Given the description of an element on the screen output the (x, y) to click on. 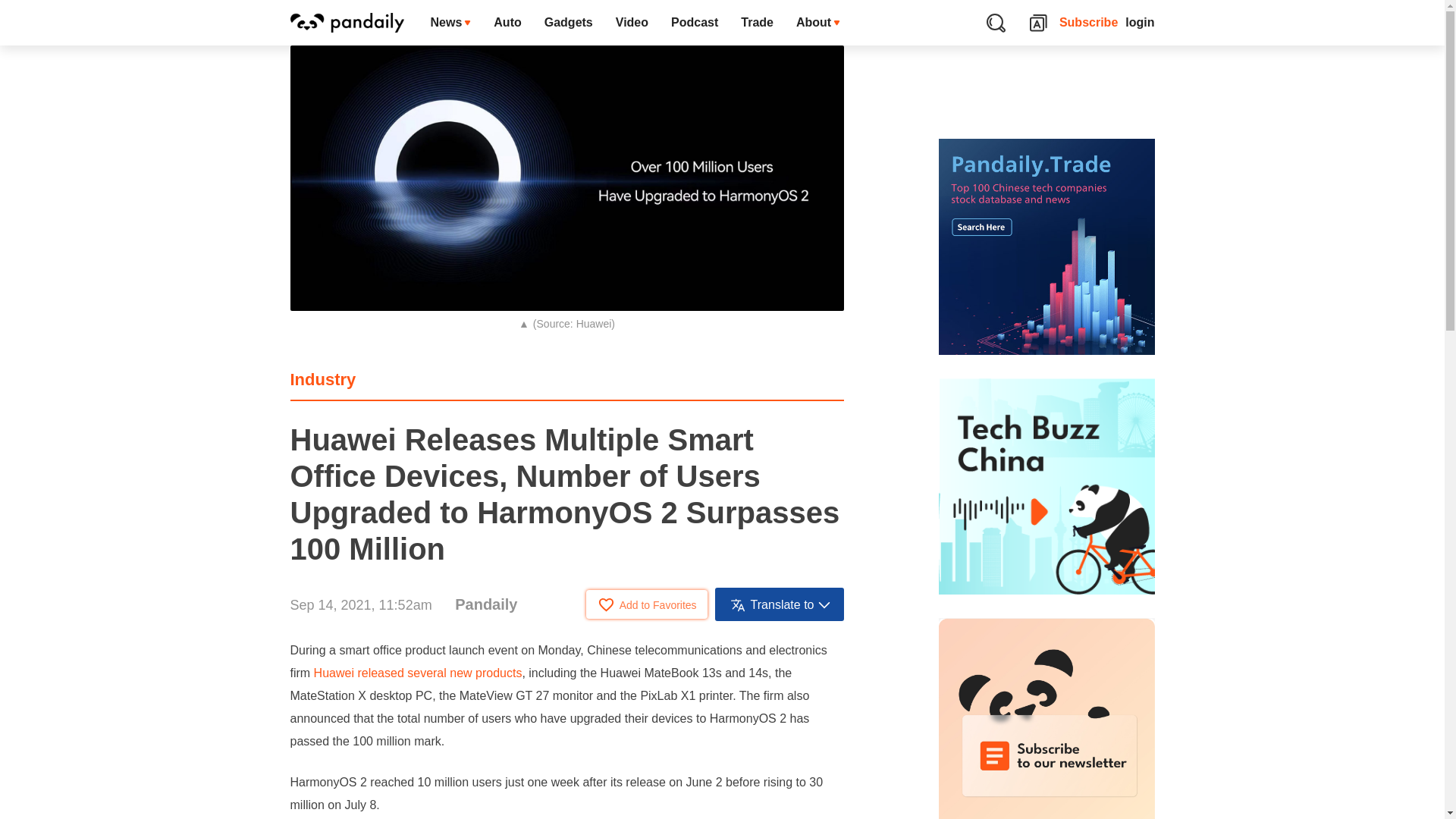
Podcast (694, 22)
News (450, 22)
Gadgets (568, 22)
Huawei released several new products (418, 672)
Add to Favorites (646, 604)
Subscribe (1088, 22)
Video (631, 22)
Pandaily (485, 604)
Translate to (779, 604)
Industry (322, 379)
